Given the description of an element on the screen output the (x, y) to click on. 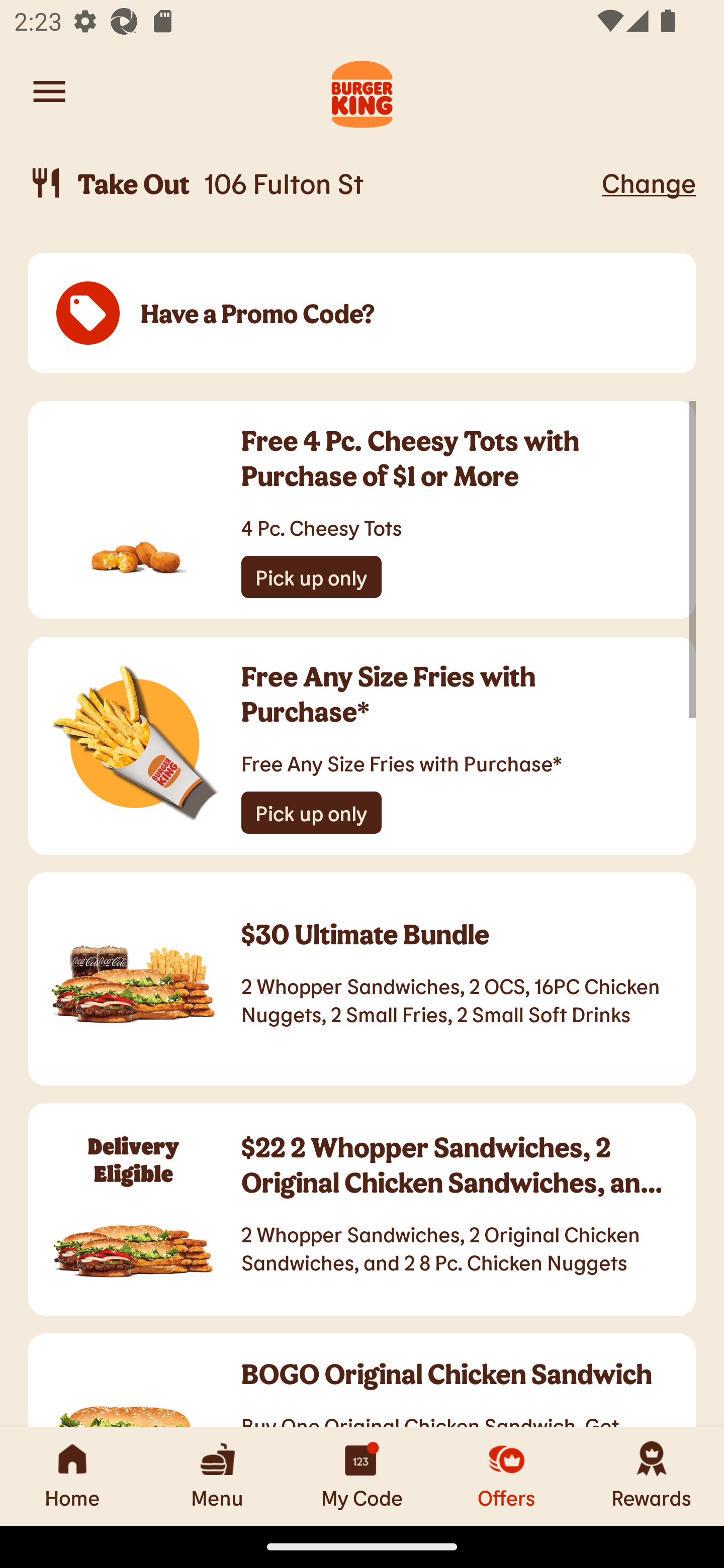
Burger King Logo. Navigate to Home (362, 91)
Navigate to account menu  (49, 91)
Take Out, 106 Fulton St  Take Out 106 Fulton St (311, 183)
Change (648, 182)
Have a Promo Code?  Have a Promo Code? (361, 313)
Home (72, 1475)
Menu (216, 1475)
My Code (361, 1475)
Offers (506, 1475)
Rewards (651, 1475)
